Given the description of an element on the screen output the (x, y) to click on. 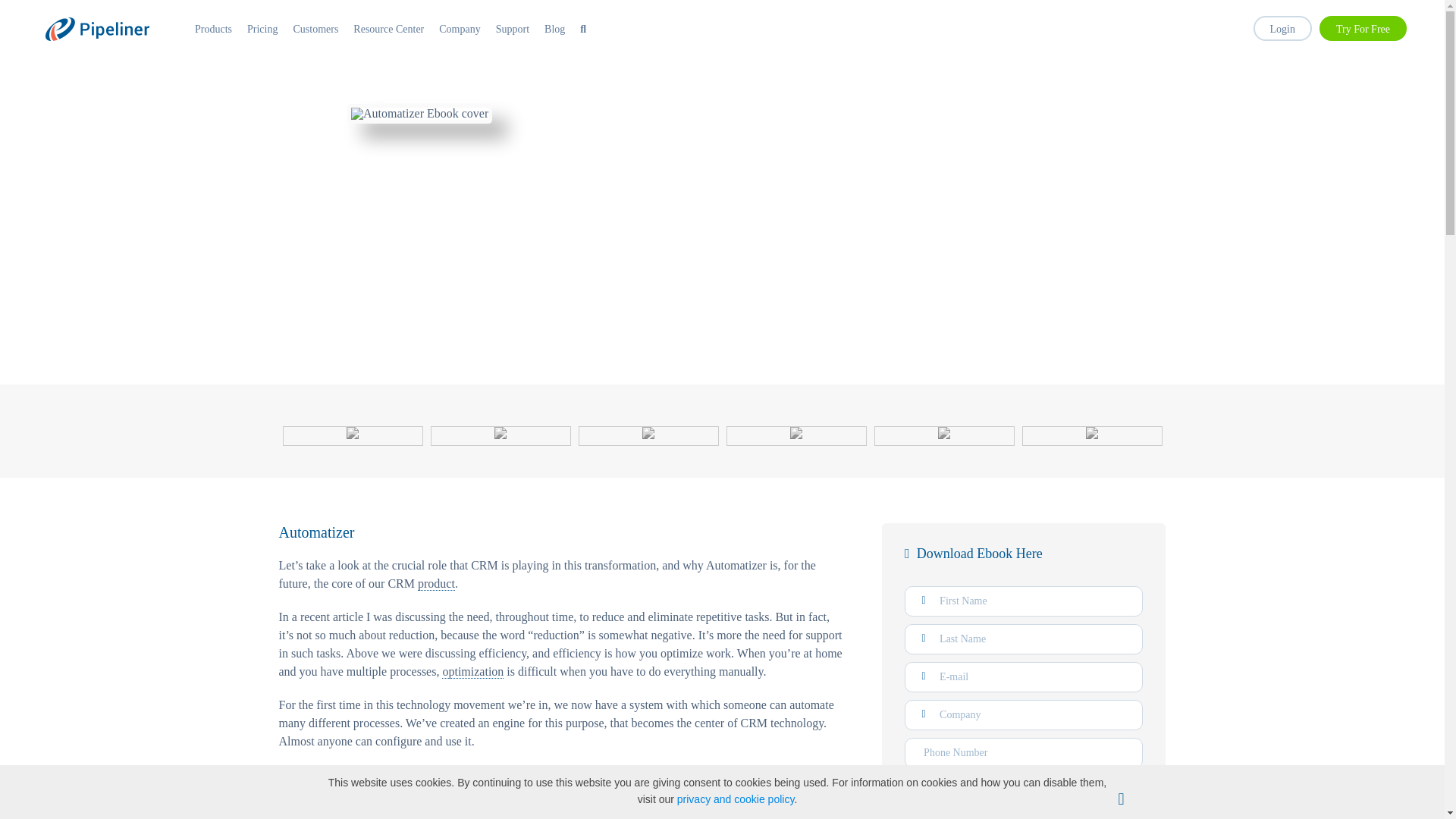
Support (512, 28)
automatizer-ebook-cover (418, 113)
Blog (554, 28)
Pricing (262, 28)
Customers (314, 28)
Resource Center (388, 28)
Company (459, 28)
Login (1281, 27)
Products (213, 28)
Try For Free (1362, 27)
